Given the description of an element on the screen output the (x, y) to click on. 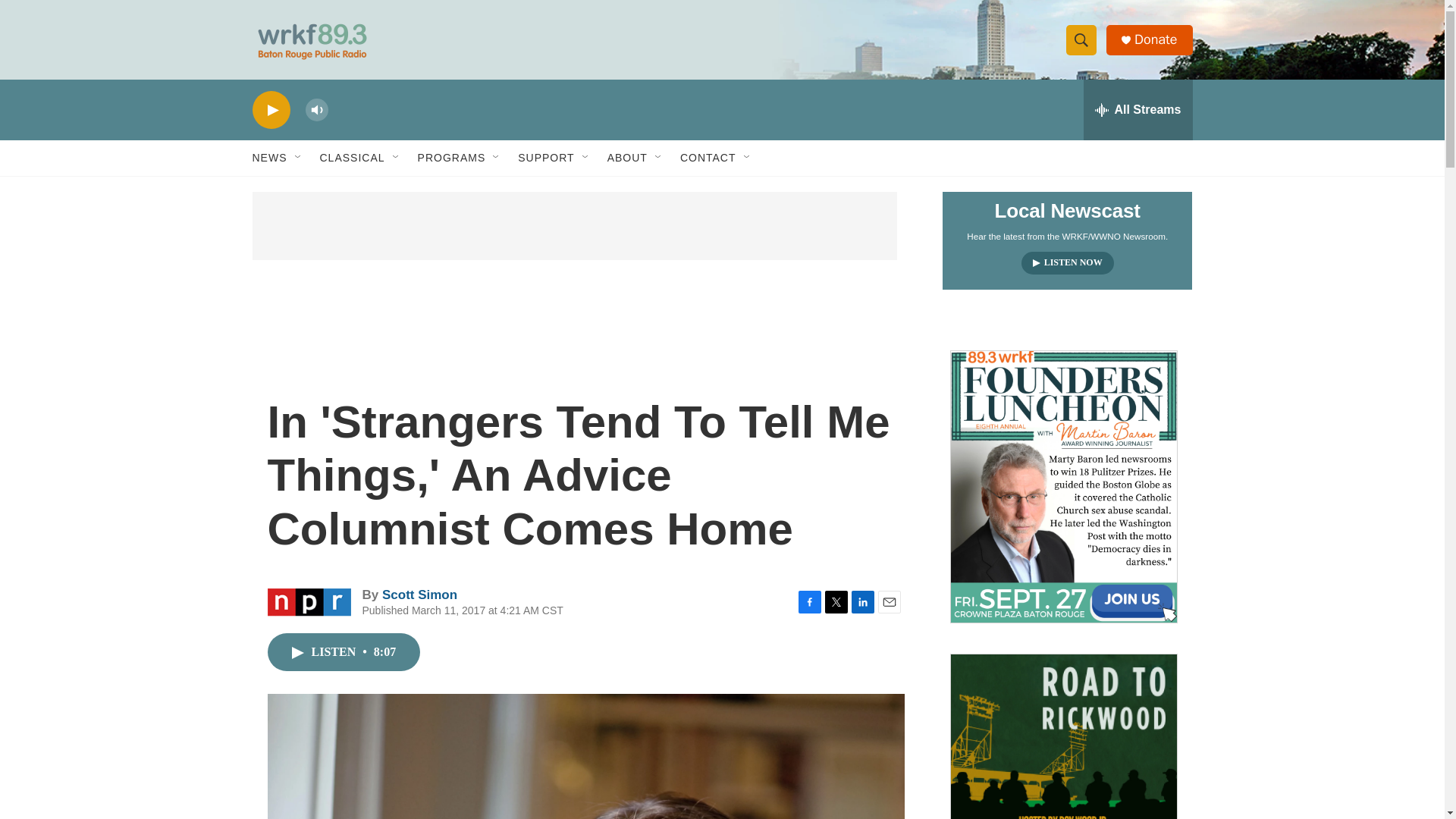
3rd party ad content (574, 225)
